Given the description of an element on the screen output the (x, y) to click on. 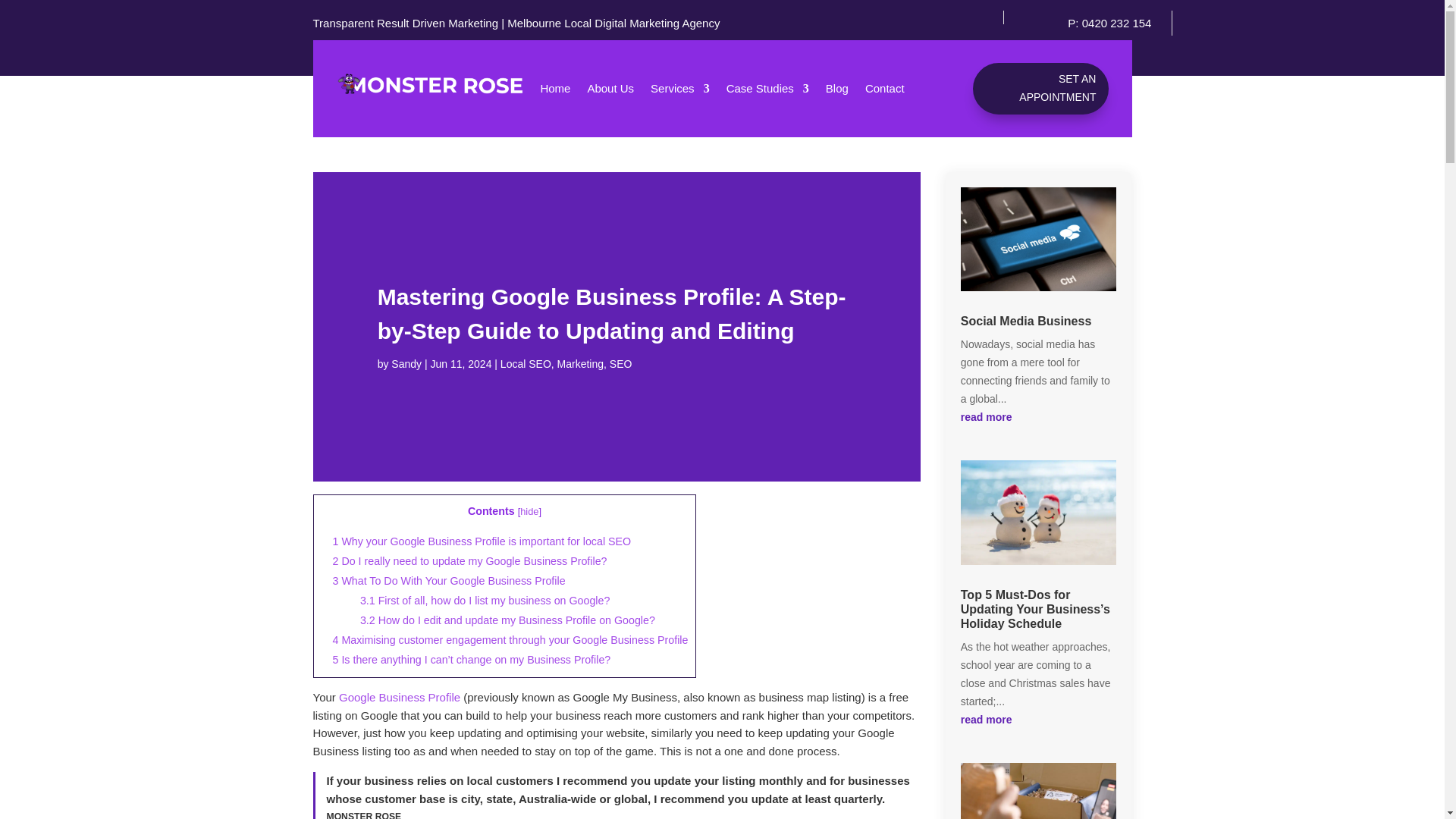
0420 232 154 (1116, 22)
Posts by Sandy (406, 363)
SET AN APPOINTMENT (1040, 88)
Case Studies (767, 91)
Home (555, 91)
About Us (609, 91)
Contact (884, 91)
Services (680, 91)
Blog (836, 91)
